Given the description of an element on the screen output the (x, y) to click on. 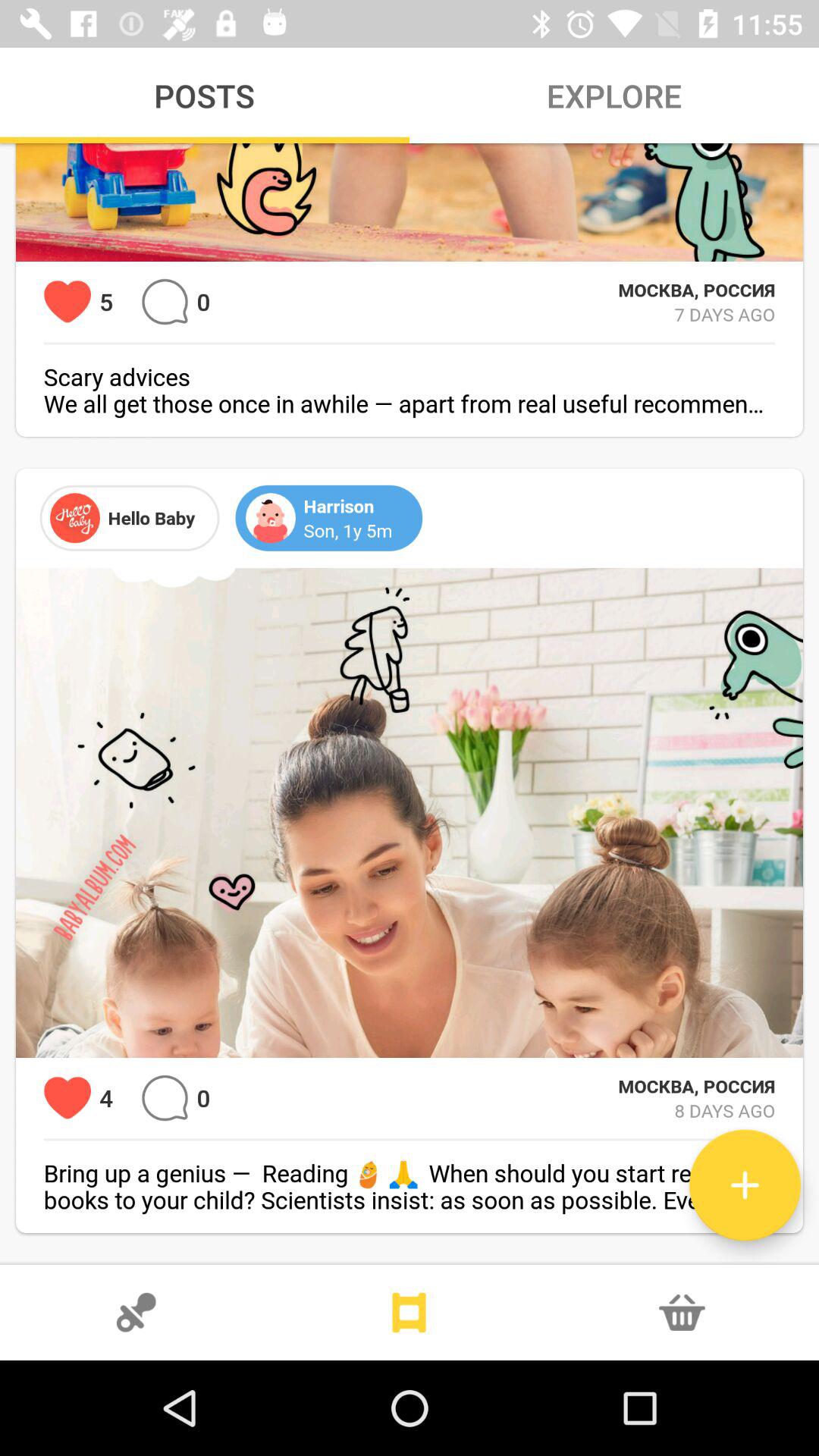
add post (744, 1185)
